Given the description of an element on the screen output the (x, y) to click on. 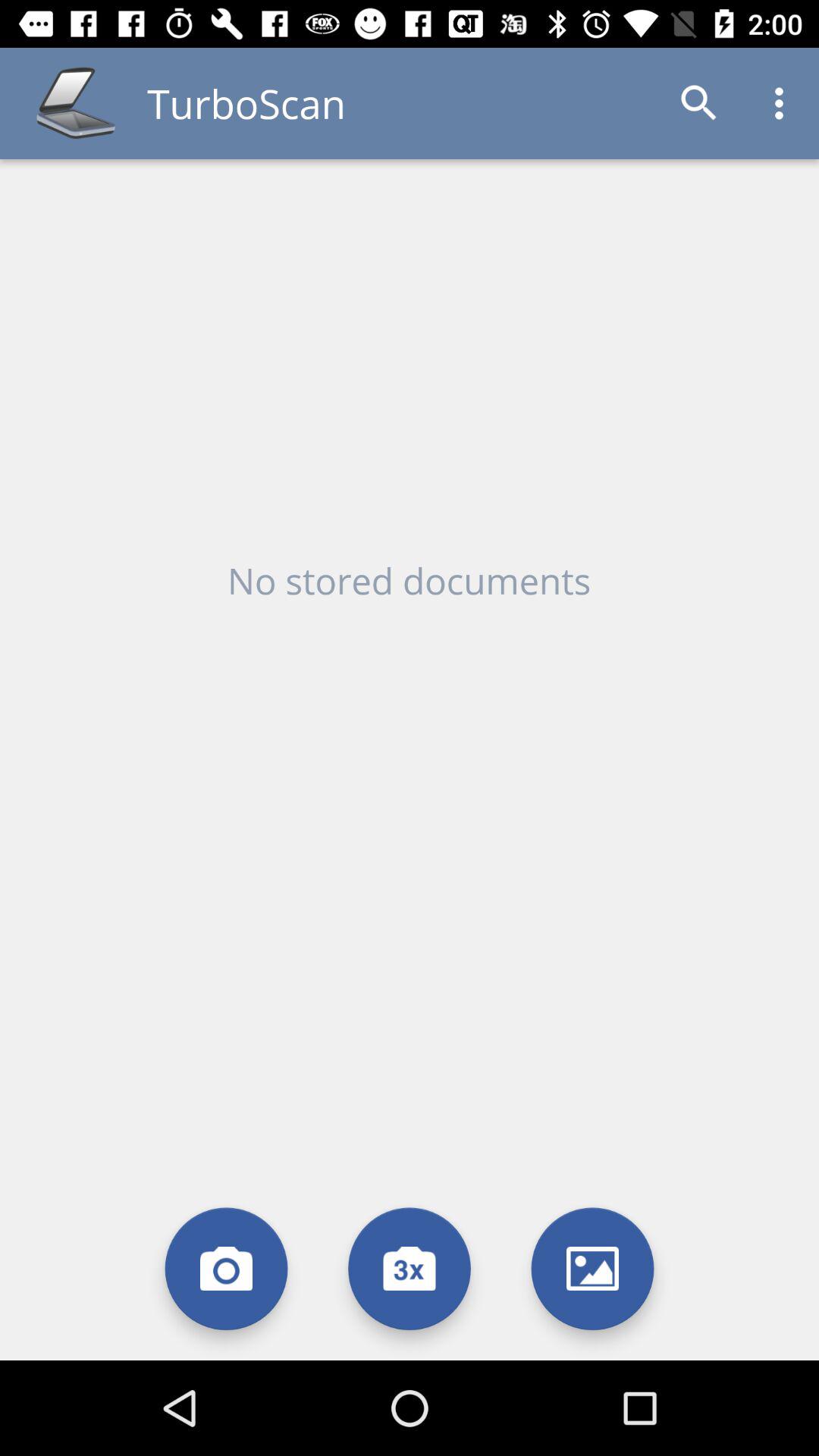
tap the icon at the bottom left corner (225, 1268)
